Given the description of an element on the screen output the (x, y) to click on. 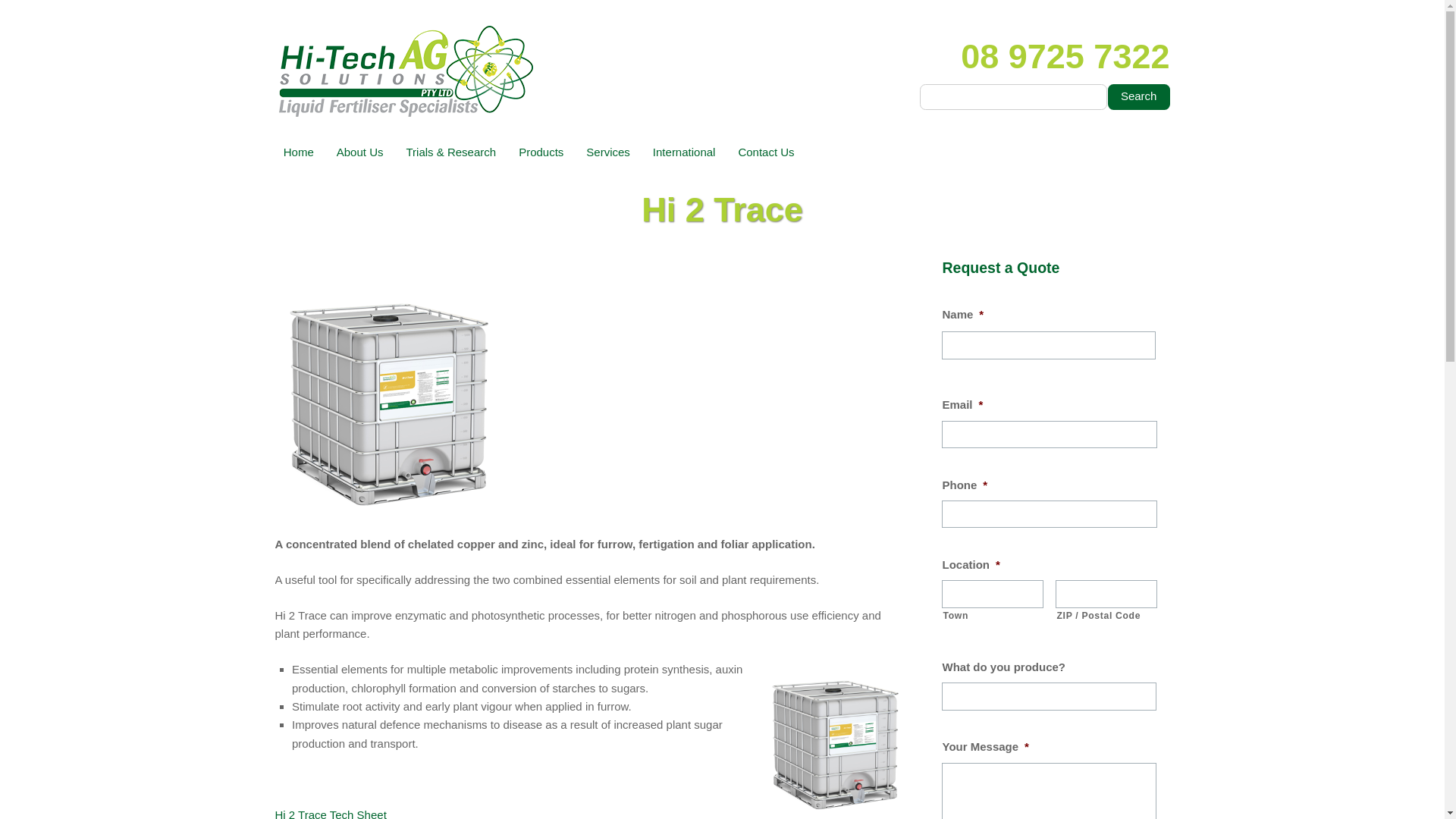
About Us (360, 152)
Services (608, 152)
08 9725 7322 (1064, 55)
International (684, 152)
Home (298, 152)
Hi 2 Trace Tech Sheet (330, 813)
Products (541, 152)
Search (1139, 96)
Contact Us (766, 152)
Search (1139, 96)
